Given the description of an element on the screen output the (x, y) to click on. 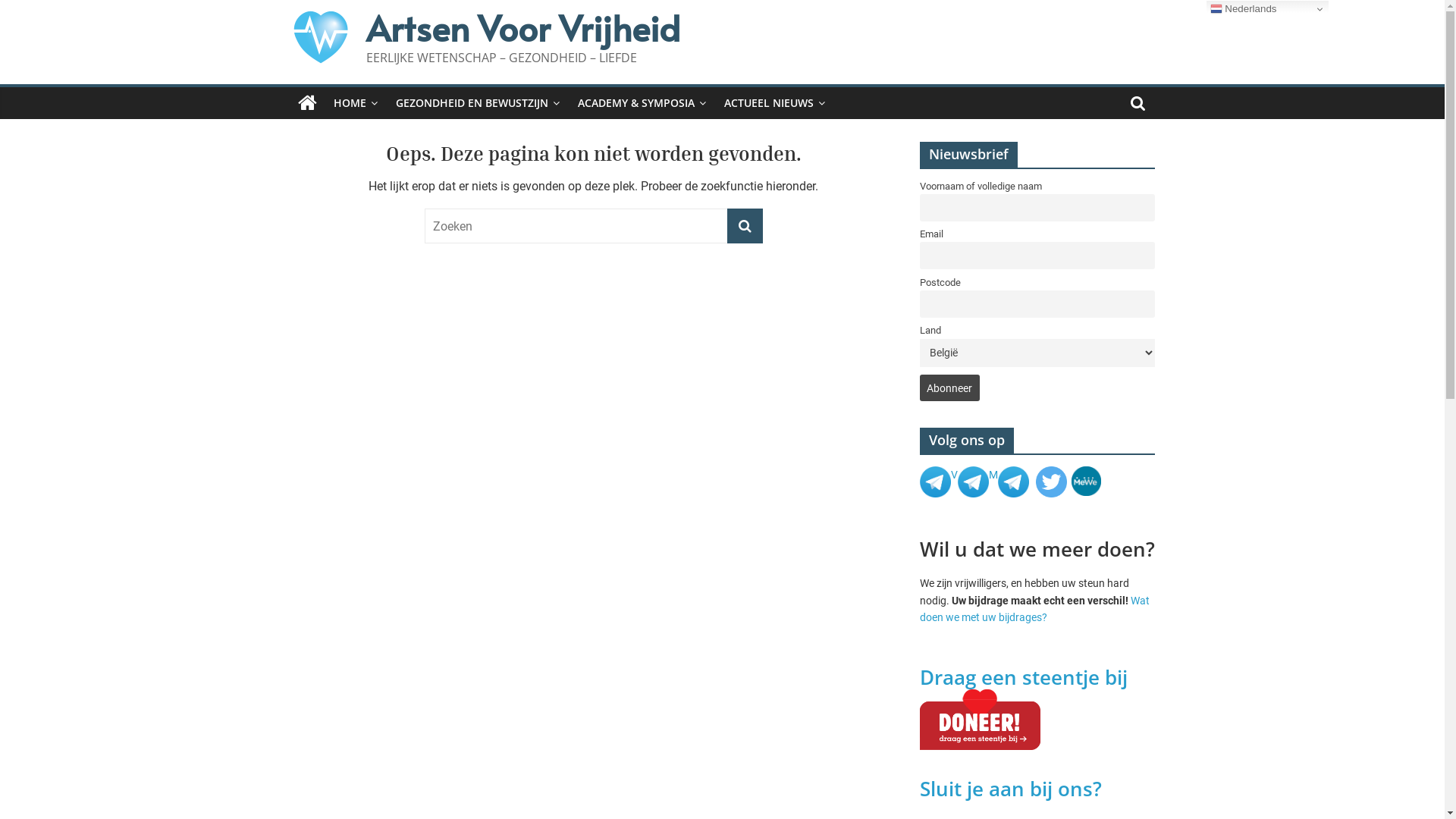
ACADEMY & SYMPOSIA Element type: text (641, 103)
Sluit je aan bij ons?  Element type: text (1012, 788)
ACTUEEL NIEUWS Element type: text (773, 103)
GEZONDHEID EN BEWUSTZIJN Element type: text (477, 103)
V Element type: text (953, 474)
Artsen Voor Vrijheid Element type: hover (306, 103)
M Element type: text (1008, 474)
Wat doen we met uw bijdrages? Element type: text (1033, 608)
Draag een steentje bij Element type: text (1022, 676)
Nederlands Element type: text (1267, 9)
  Element type: text (1050, 474)
HOME Element type: text (355, 103)
Abonneer Element type: text (949, 387)
Artsen Voor Vrijheid Element type: text (522, 27)
